Given the description of an element on the screen output the (x, y) to click on. 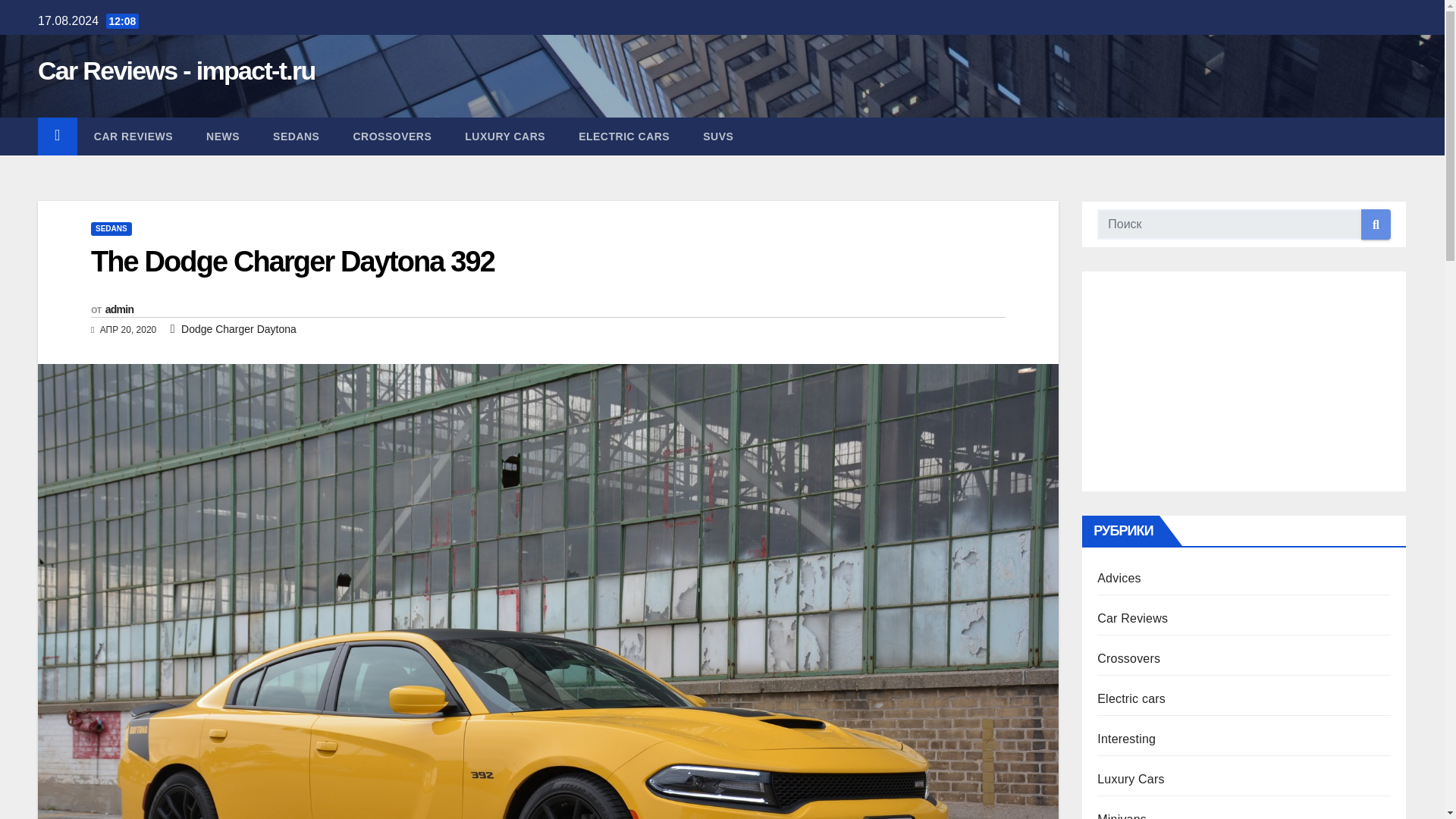
Advices (1118, 577)
admin (118, 309)
NEWS (222, 136)
News (222, 136)
CAR REVIEWS (133, 136)
Crossovers (392, 136)
Sedans (296, 136)
Car Reviews - impact-t.ru (176, 70)
Car Reviews (1132, 617)
SEDANS (111, 228)
